Given the description of an element on the screen output the (x, y) to click on. 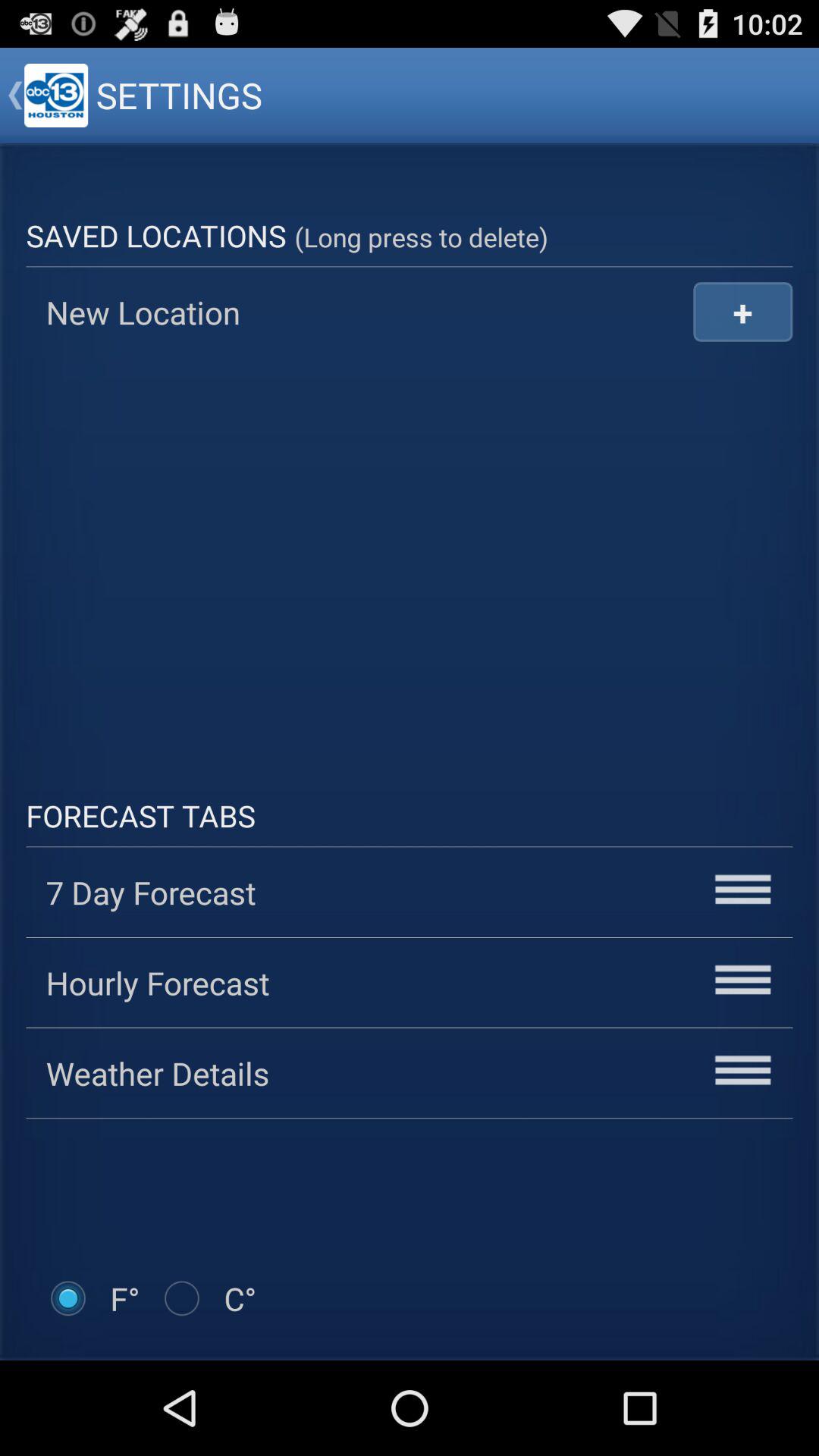
open item below the new location (409, 556)
